Given the description of an element on the screen output the (x, y) to click on. 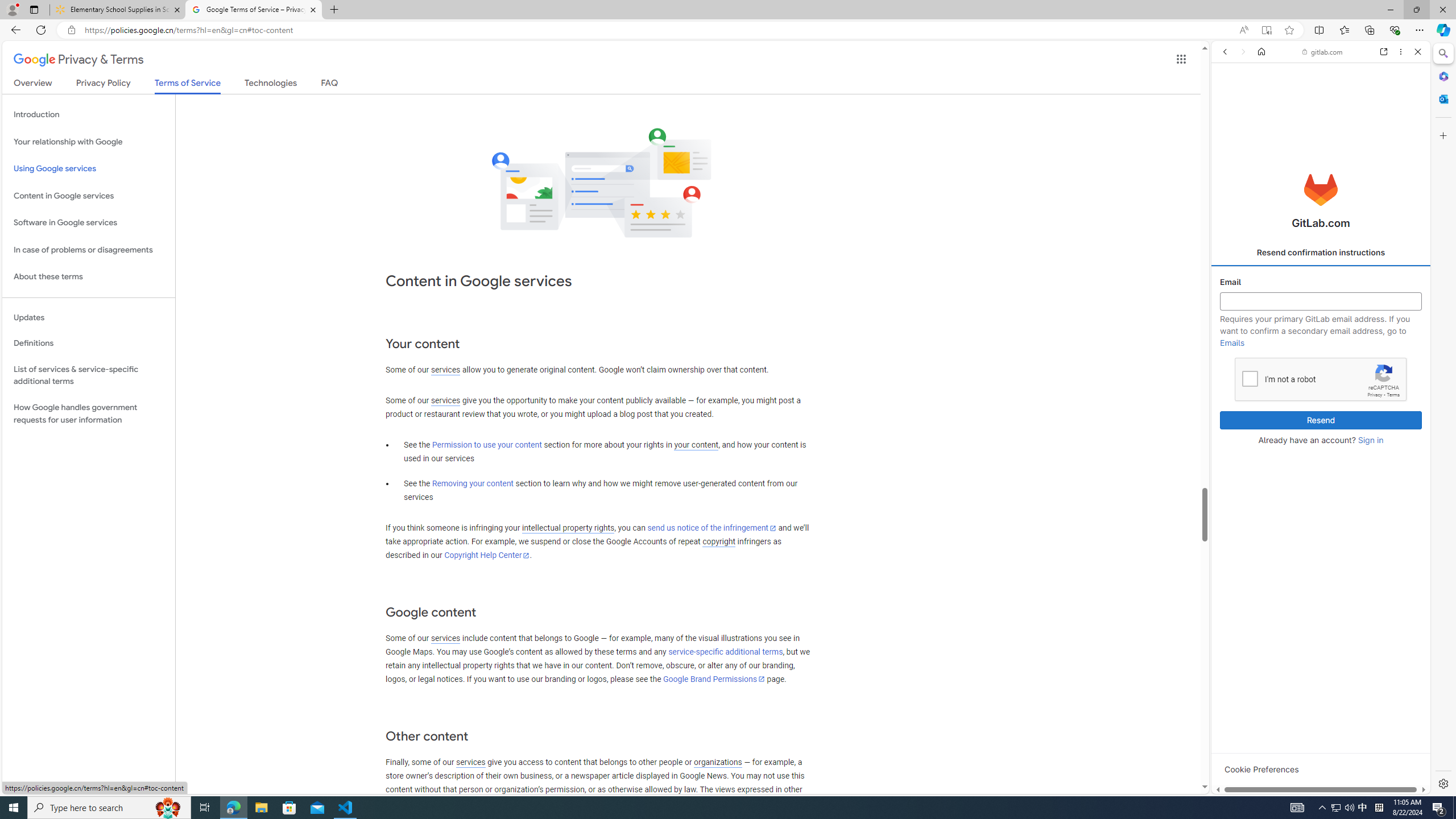
Search Filter, VIDEOS (1298, 129)
gitlab.com (1323, 51)
Privacy (1375, 394)
VIDEOS (1298, 130)
Minimize (1390, 9)
Split screen (1318, 29)
App bar (728, 29)
View details (1379, 555)
New Tab (334, 9)
Confirmation Page (1320, 392)
Login (1320, 281)
Favorites (1344, 29)
ALL   (1228, 130)
Login (1320, 281)
